Given the description of an element on the screen output the (x, y) to click on. 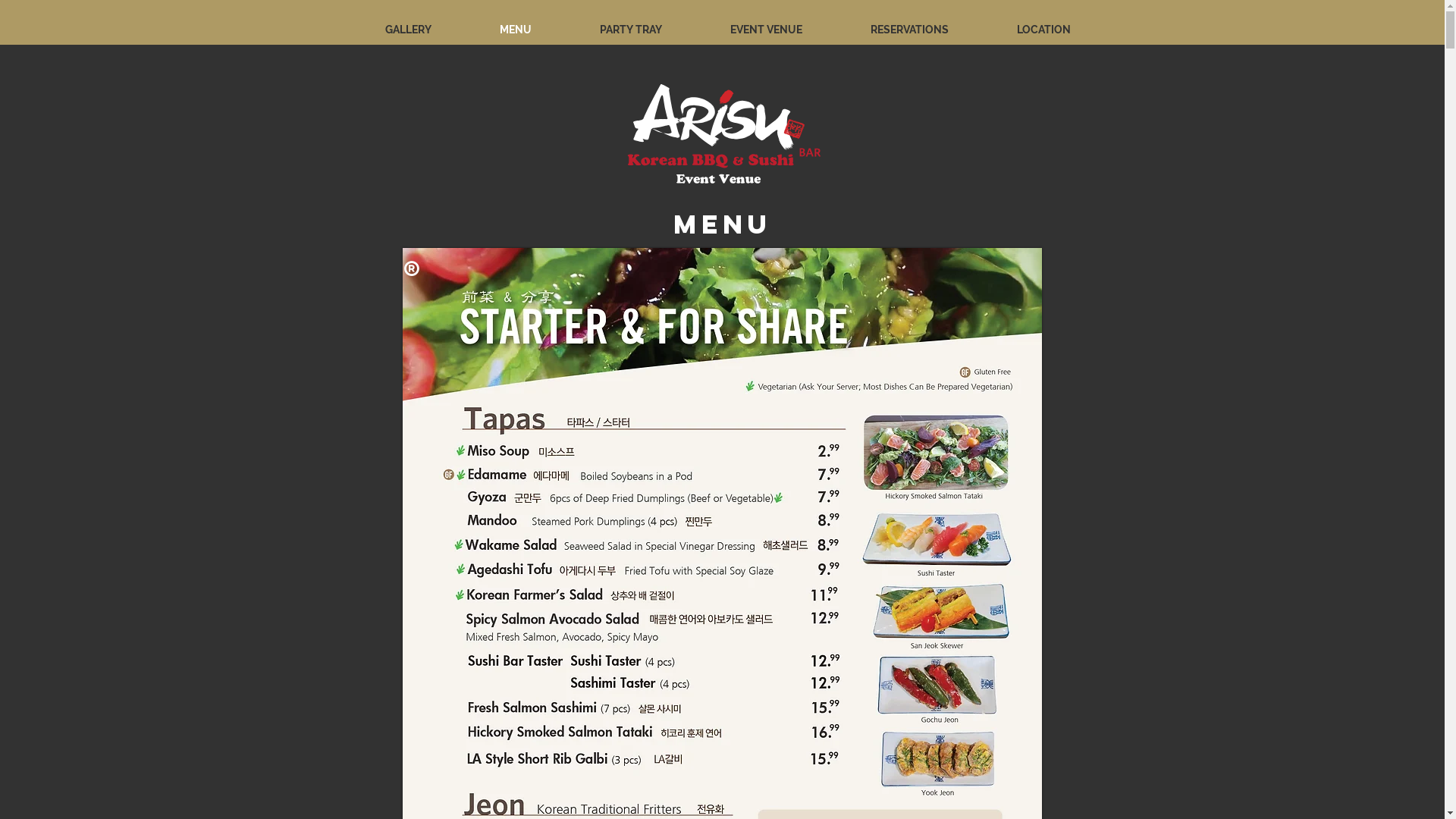
MENU Element type: text (515, 29)
EVENT VENUE Element type: text (766, 29)
PARTY TRAY Element type: text (630, 29)
RESERVATIONS Element type: text (908, 29)
GALLERY Element type: text (407, 29)
LOCATION Element type: text (1043, 29)
